Given the description of an element on the screen output the (x, y) to click on. 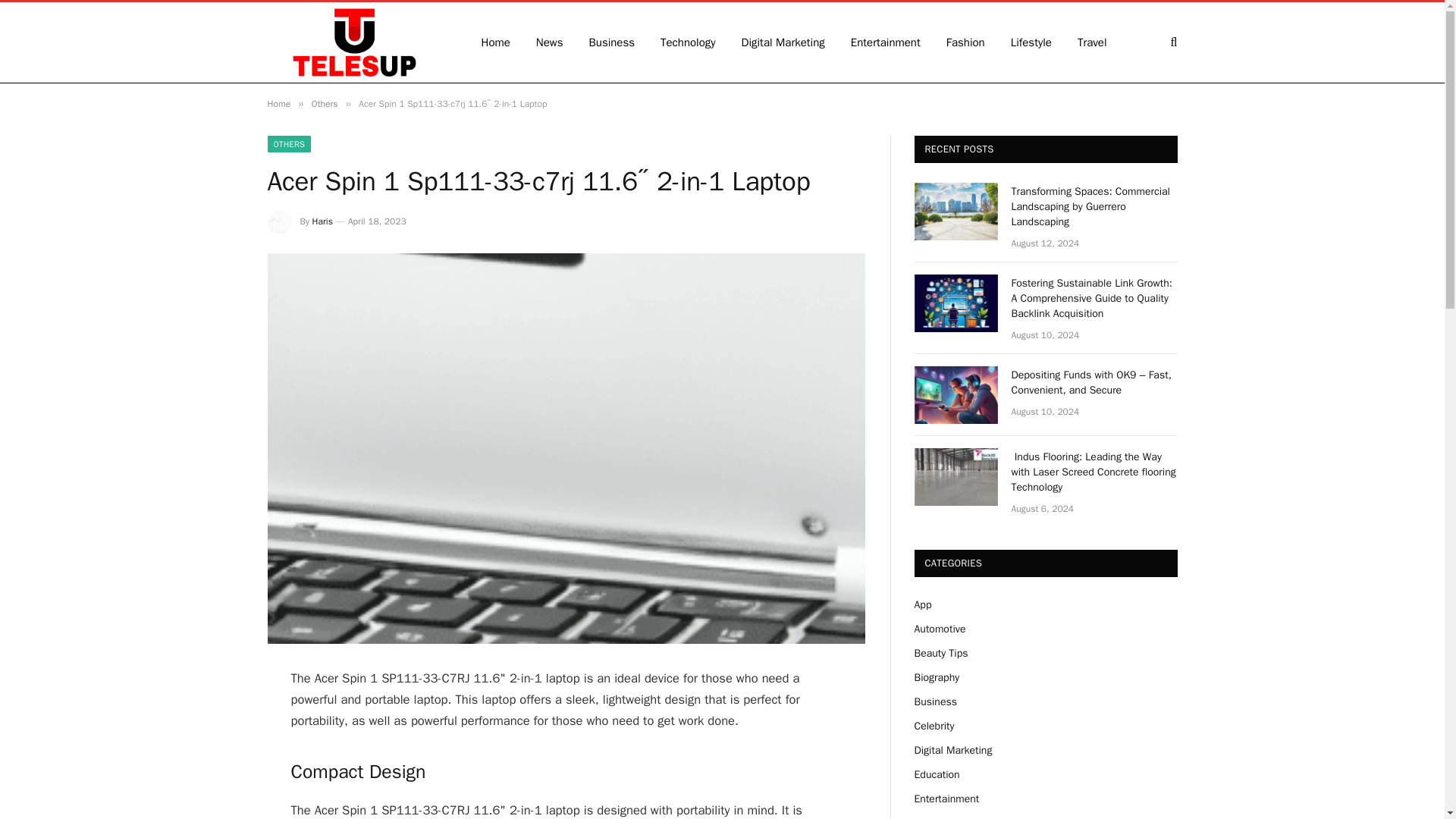
Entertainment (885, 42)
Others (324, 103)
Home (277, 103)
Technology (688, 42)
Telesup.net (353, 42)
OTHERS (288, 143)
